Given the description of an element on the screen output the (x, y) to click on. 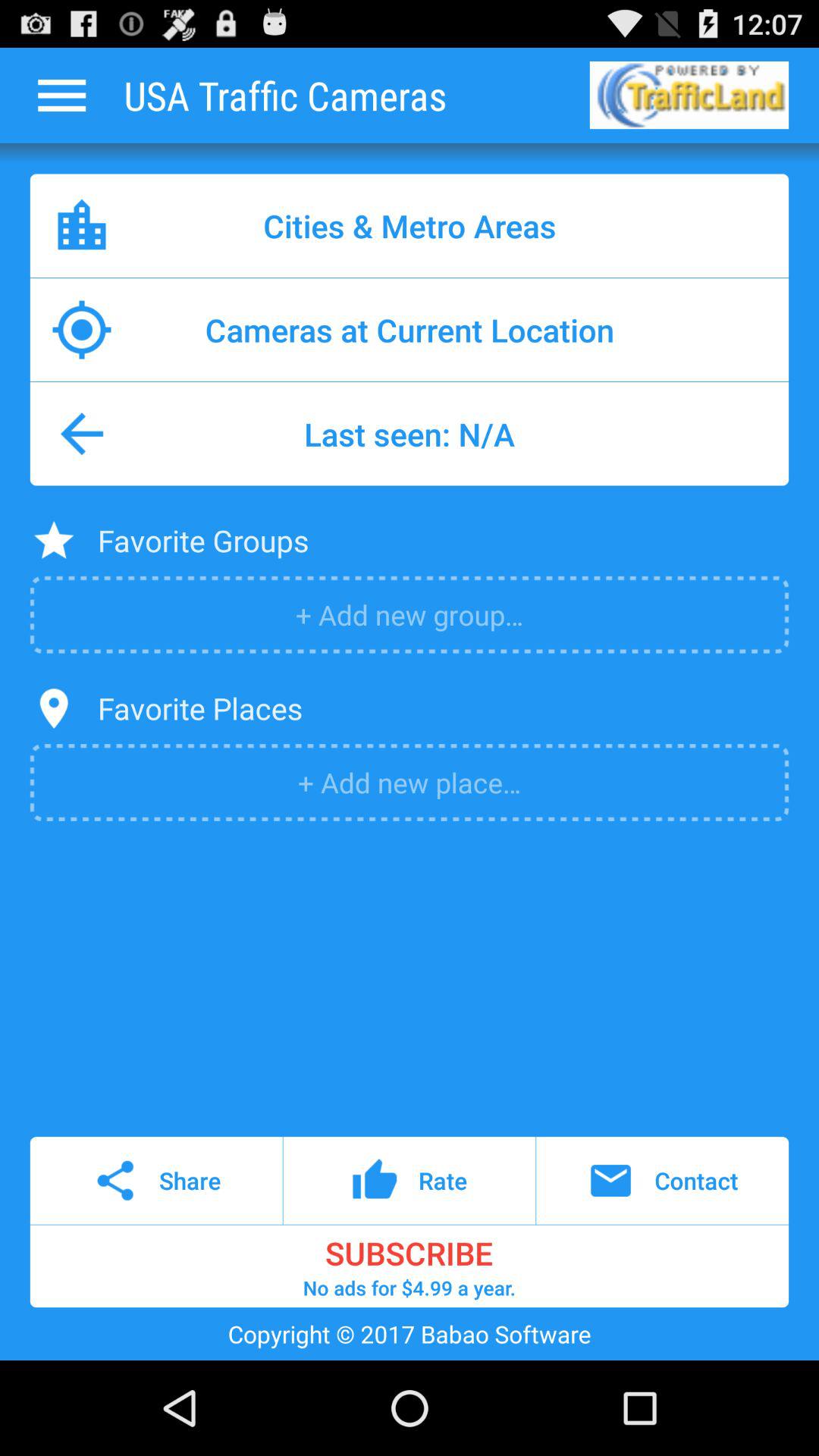
choose cameras at current icon (409, 329)
